Given the description of an element on the screen output the (x, y) to click on. 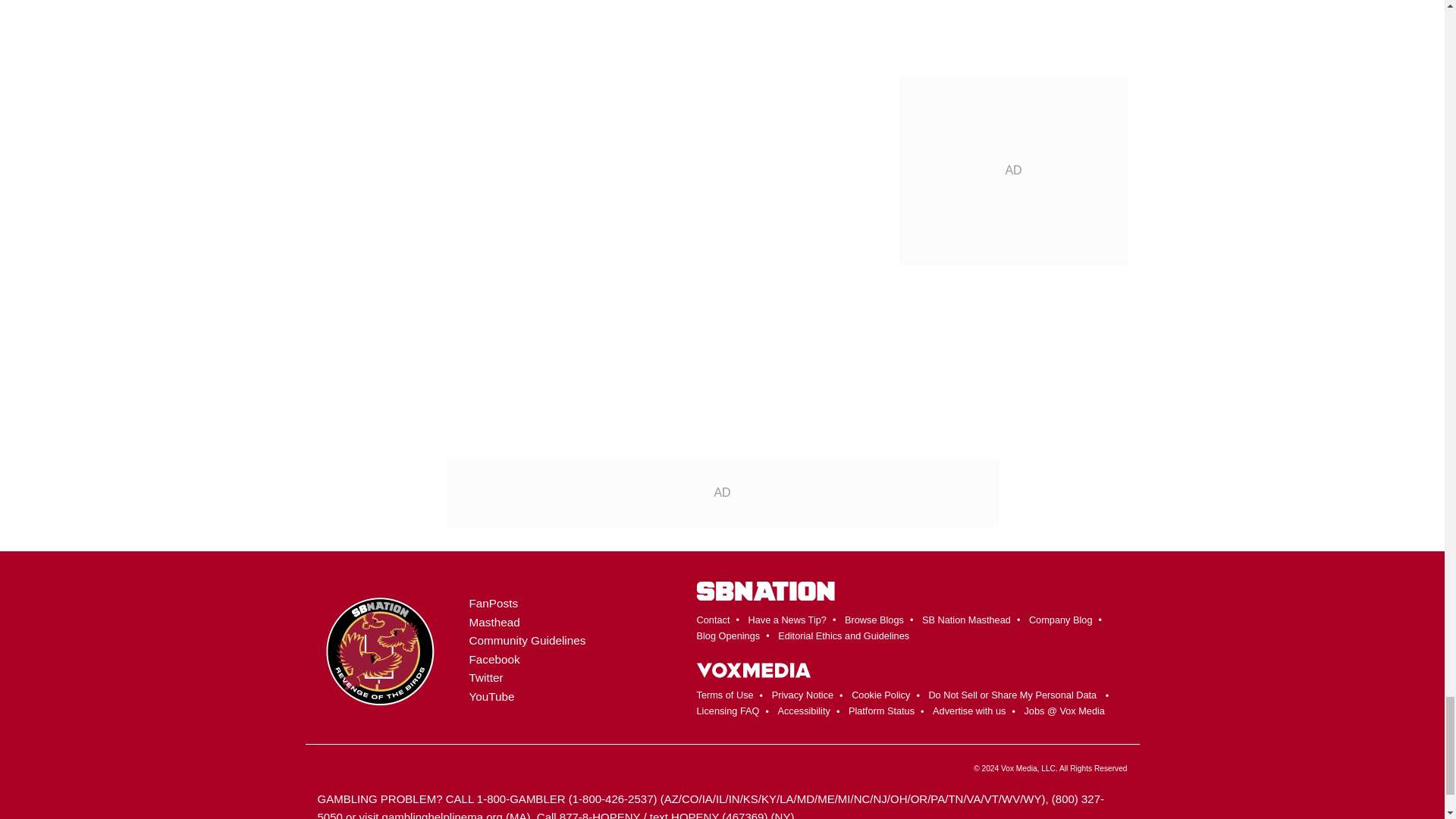
Vox Media Vox Media logo. (752, 666)
Horizontal - White (764, 590)
